Given the description of an element on the screen output the (x, y) to click on. 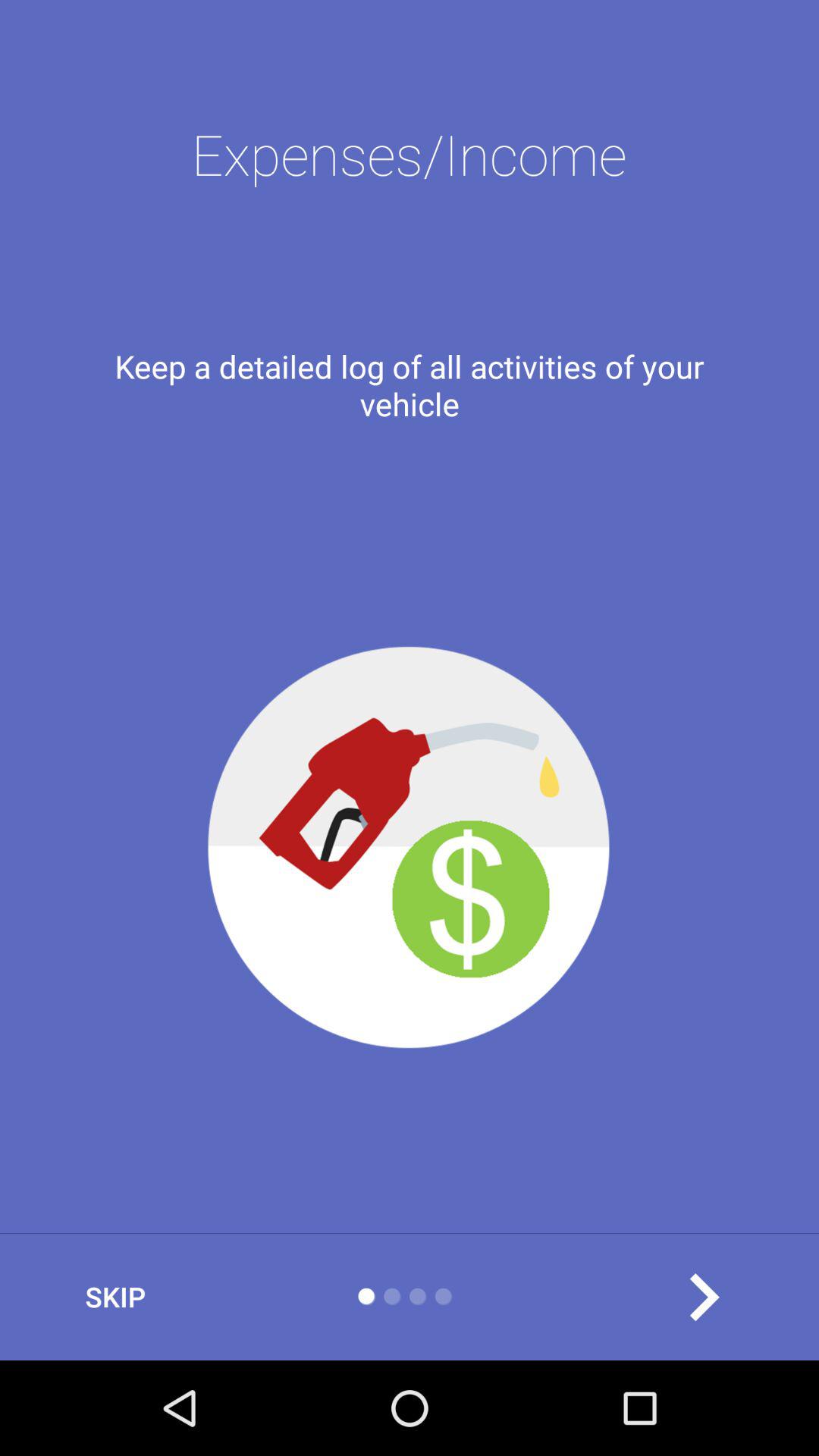
tap the skip item (114, 1296)
